Given the description of an element on the screen output the (x, y) to click on. 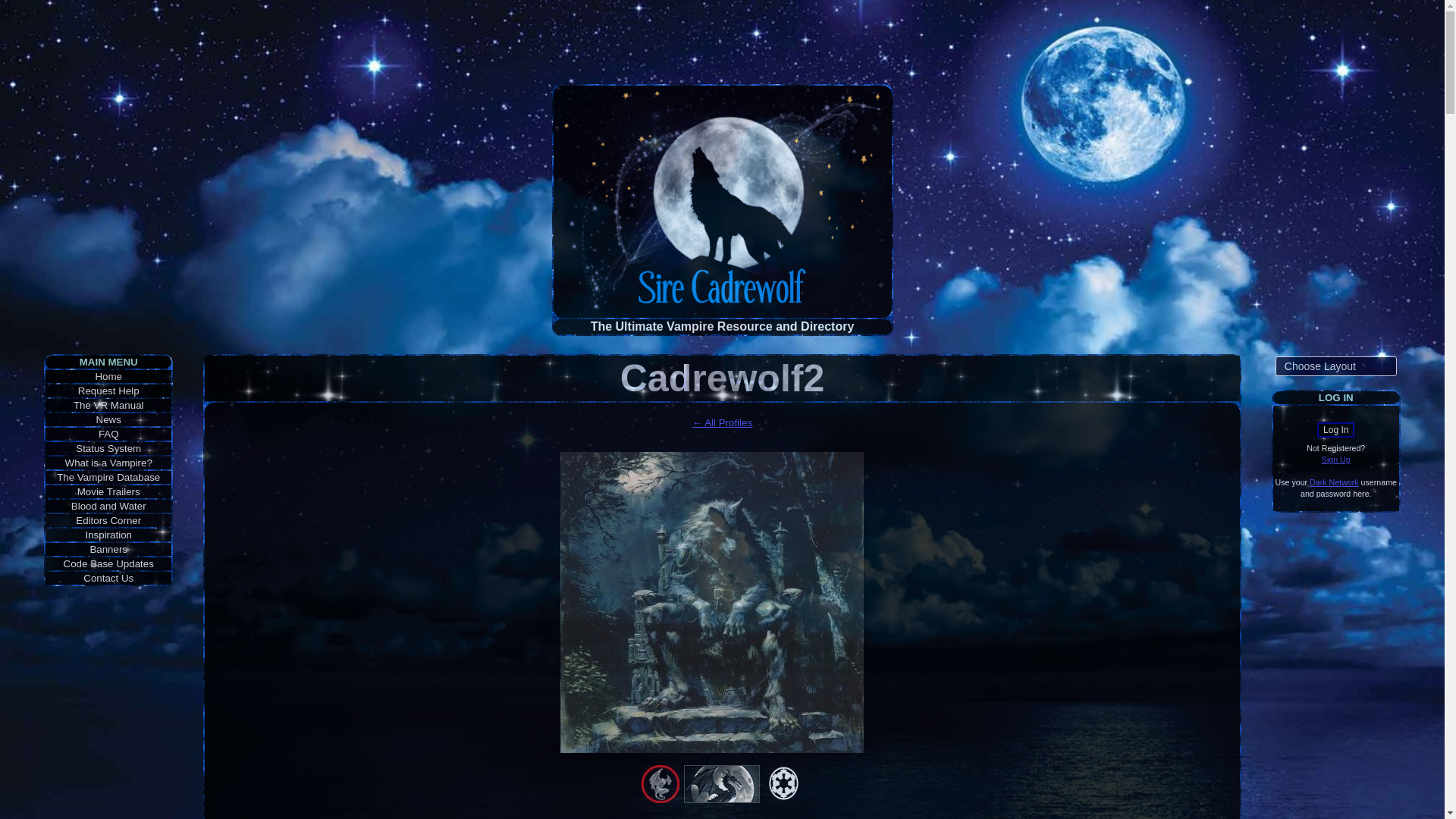
News (108, 419)
Request Help (108, 390)
Editors Corner (108, 520)
Home (108, 376)
Movie Trailers (108, 491)
FAQ (109, 433)
Blood and Water (109, 505)
Status System (108, 448)
The Vampire Database (108, 477)
Advertisement (721, 42)
